Given the description of an element on the screen output the (x, y) to click on. 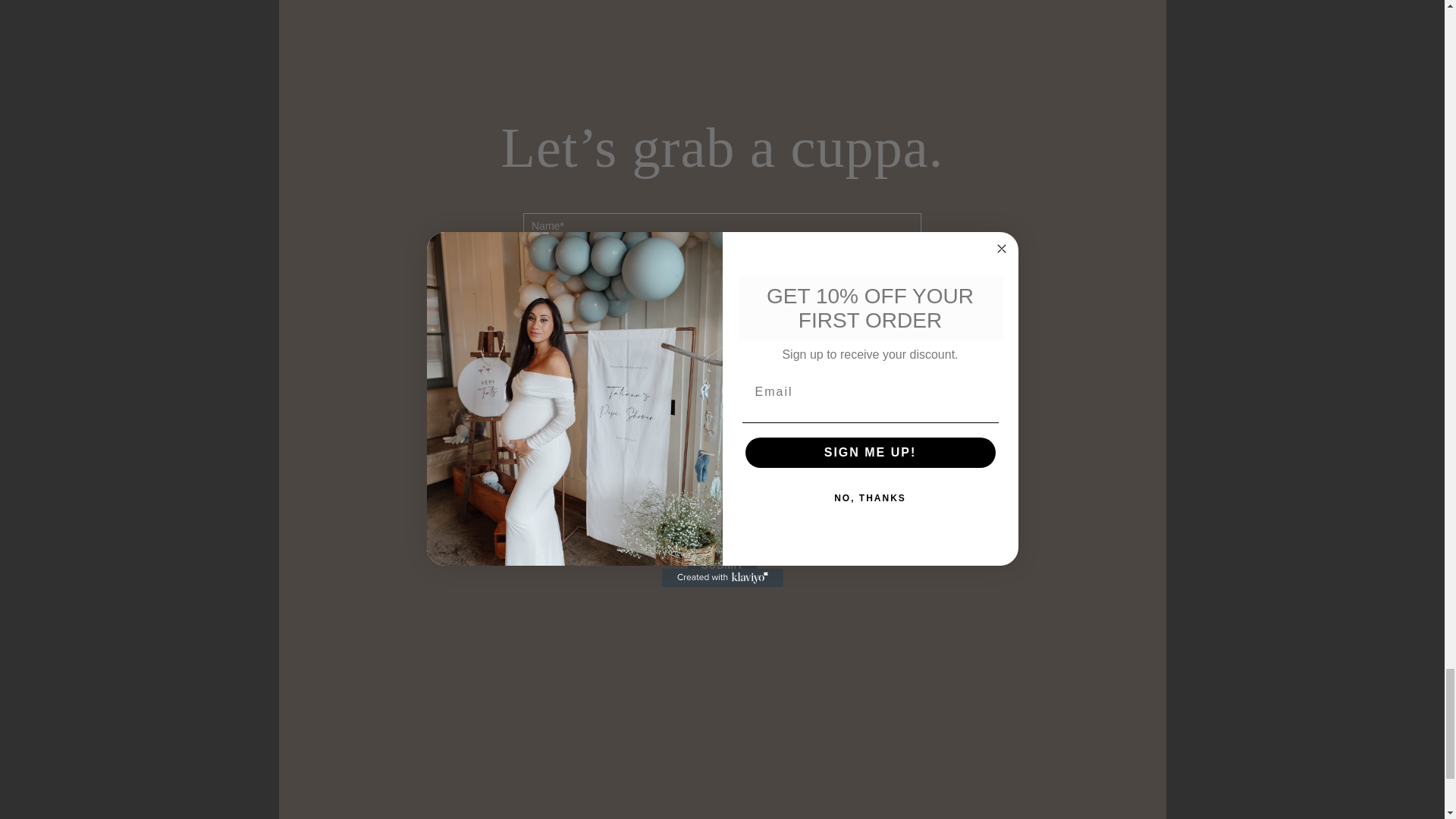
Submit (722, 565)
